Given the description of an element on the screen output the (x, y) to click on. 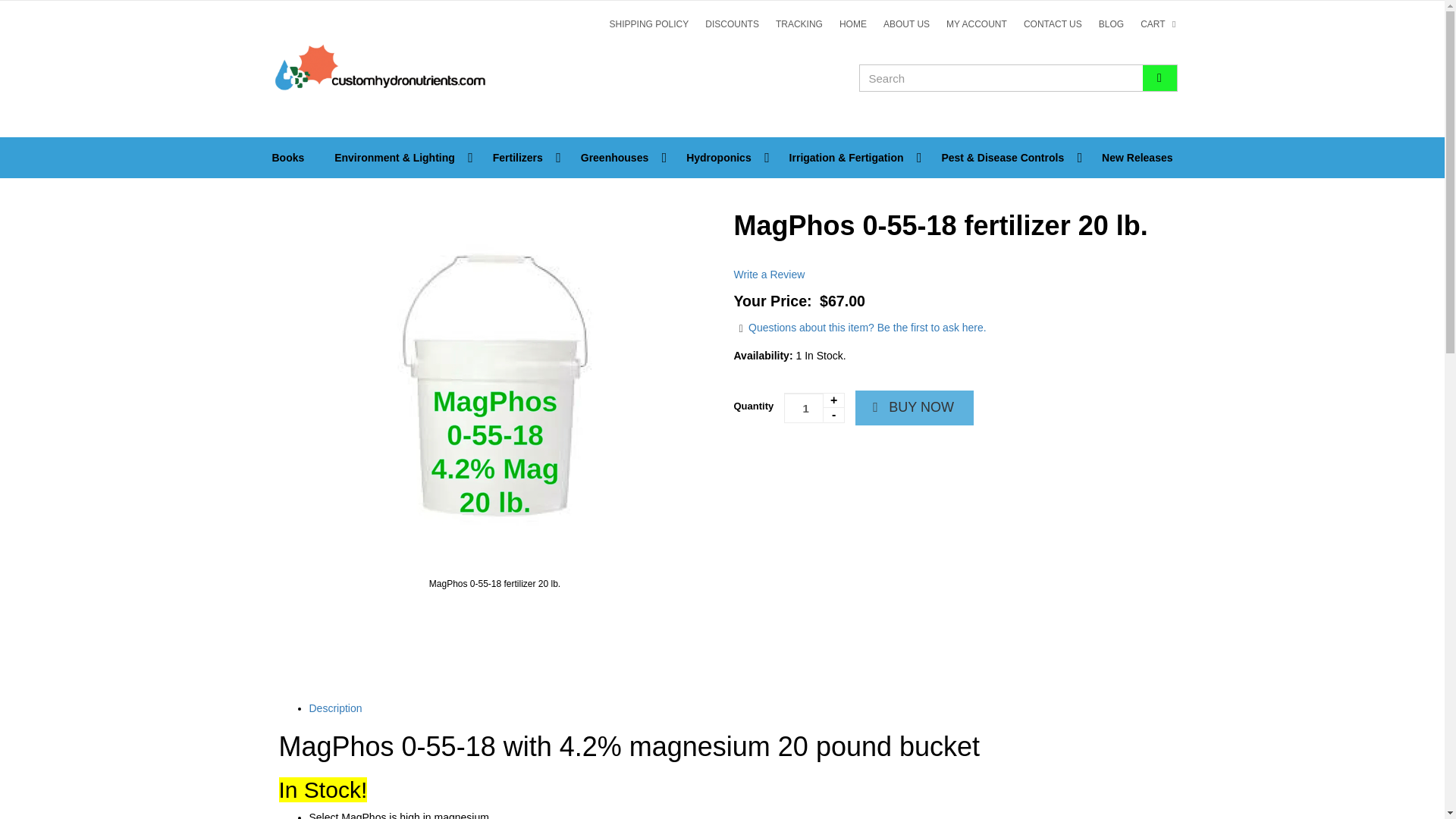
Books (287, 157)
ABOUT US (906, 24)
HOME (853, 24)
DISCOUNTS (732, 24)
1 (814, 408)
MagPhos 0-55-18 fertilizer 20 lb.  (495, 583)
MY ACCOUNT (975, 24)
CONTACT US (1052, 24)
Hydroponics (722, 157)
SHIPPING POLICY (649, 24)
Fertilizers (521, 157)
TRACKING (799, 24)
BLOG (1111, 24)
Greenhouses (618, 157)
